Given the description of an element on the screen output the (x, y) to click on. 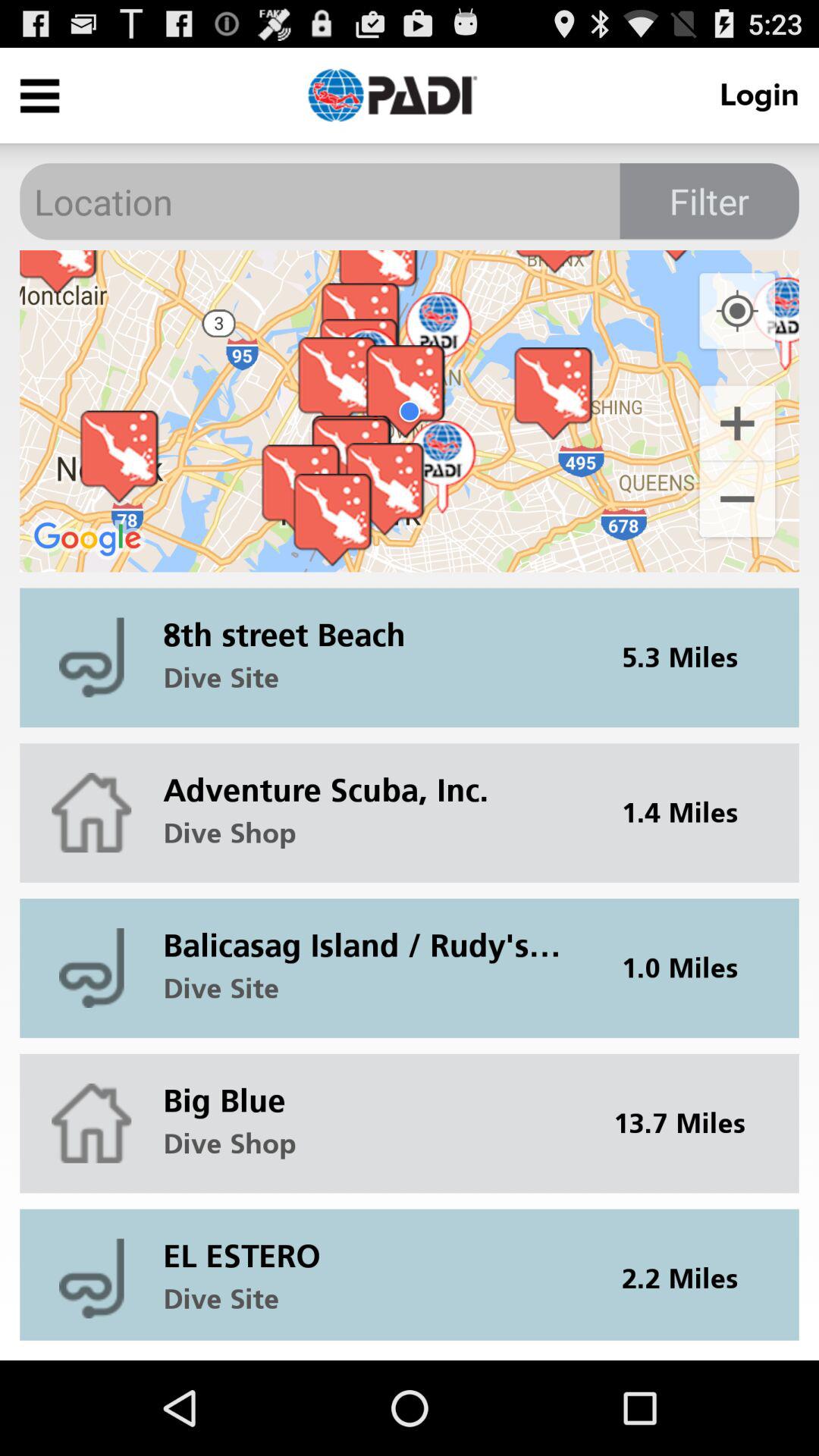
open filter button (709, 200)
